Given the description of an element on the screen output the (x, y) to click on. 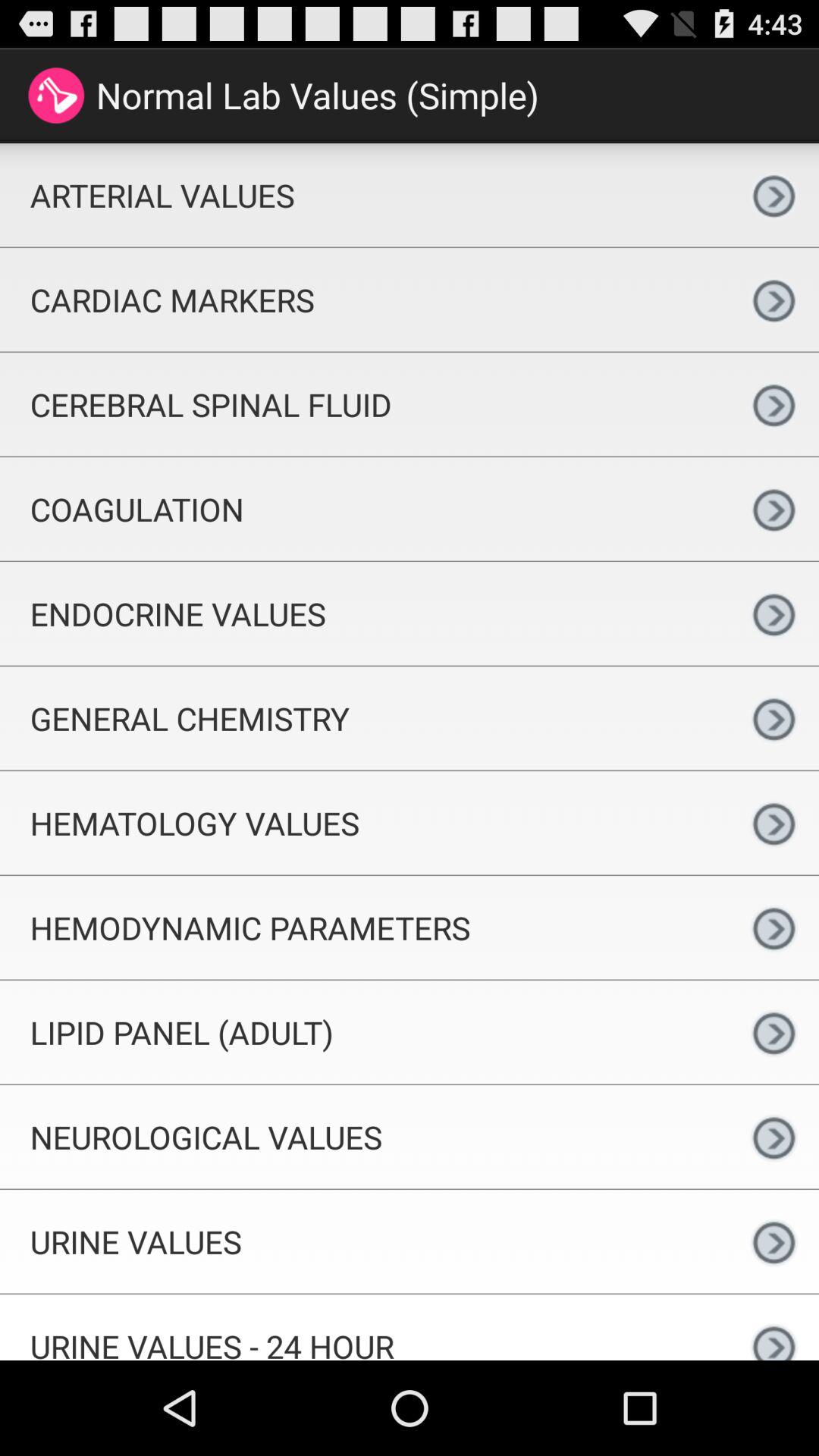
open endocrine values (364, 613)
